Given the description of an element on the screen output the (x, y) to click on. 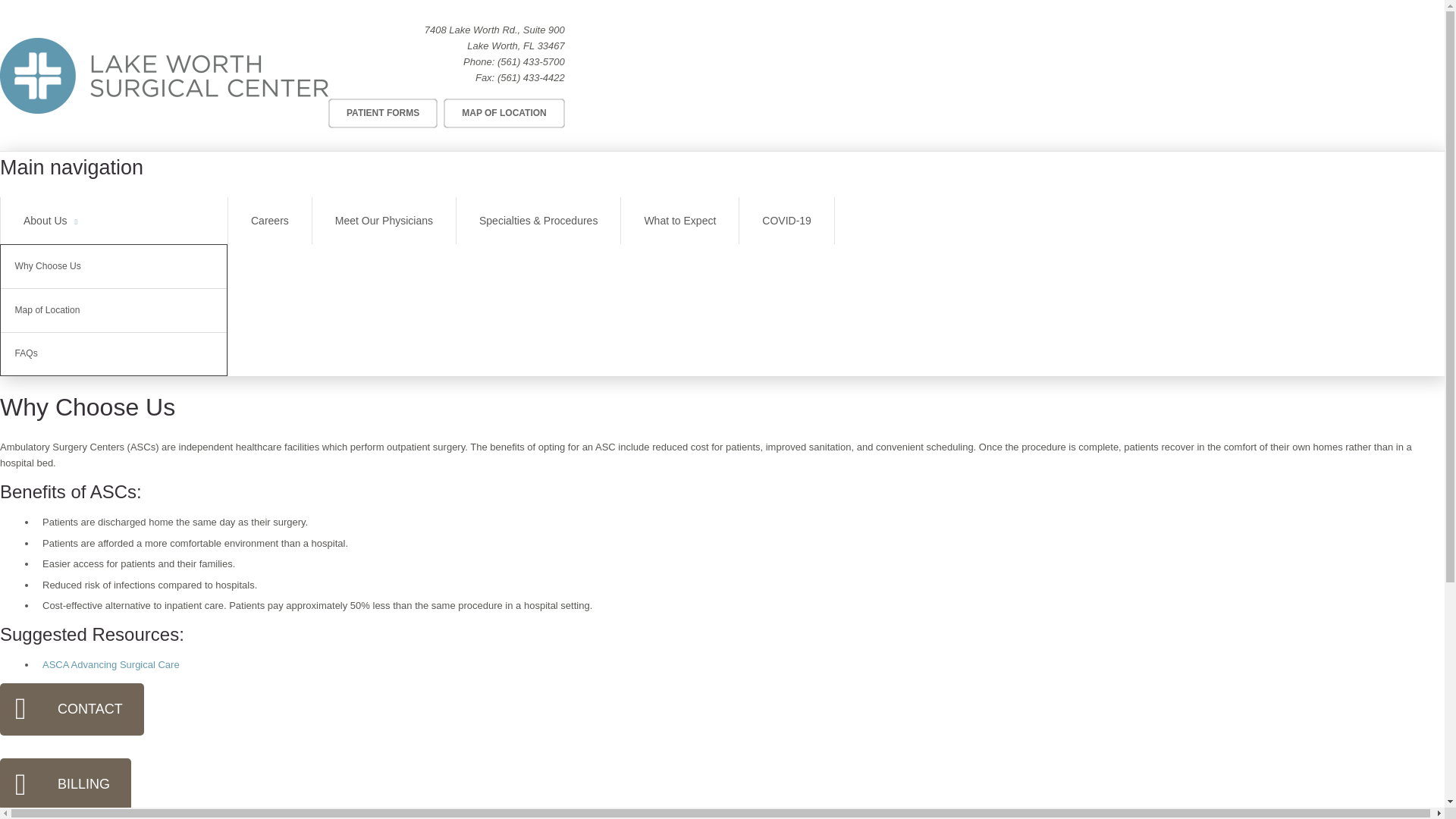
About Us (114, 220)
What to Expect (679, 220)
Home (164, 75)
FAQs (114, 353)
MAP OF LOCATION (504, 112)
Careers (269, 220)
Map of Location (114, 310)
CONTACT (72, 709)
COVID-19 (786, 220)
PATIENT FORMS (383, 112)
Why Choose Us (114, 266)
BILLING (65, 784)
Meet Our Physicians (384, 220)
ASCA Advancing Surgical Care (110, 664)
